Given the description of an element on the screen output the (x, y) to click on. 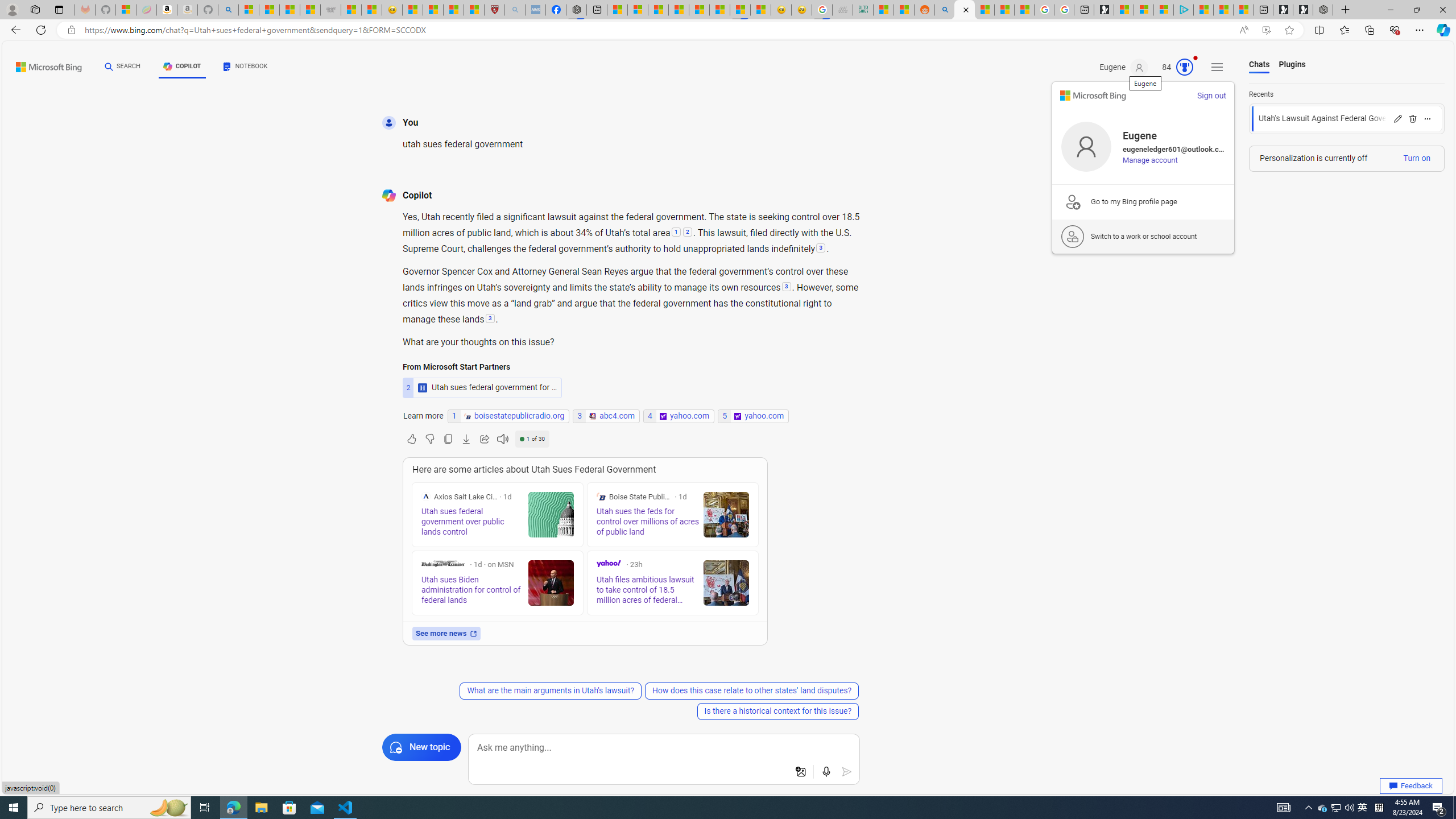
COPILOT (181, 66)
Is there a historical context for this issue? (777, 711)
AutomationID: serp_medal_svg (1183, 67)
Go to my Bing profile page (1143, 201)
Delete (1412, 118)
COPILOT (181, 68)
microsoft logo (1093, 95)
